Given the description of an element on the screen output the (x, y) to click on. 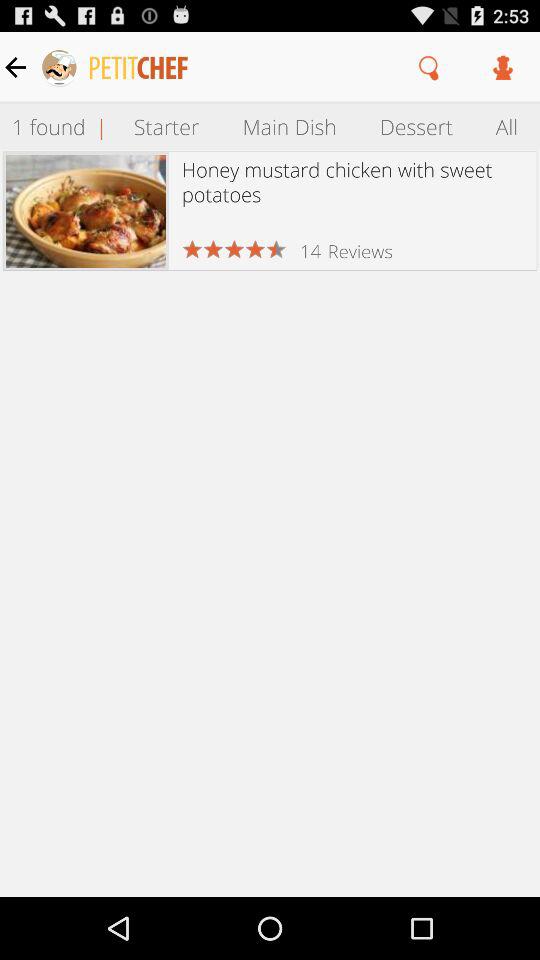
scroll until the starter (166, 126)
